Given the description of an element on the screen output the (x, y) to click on. 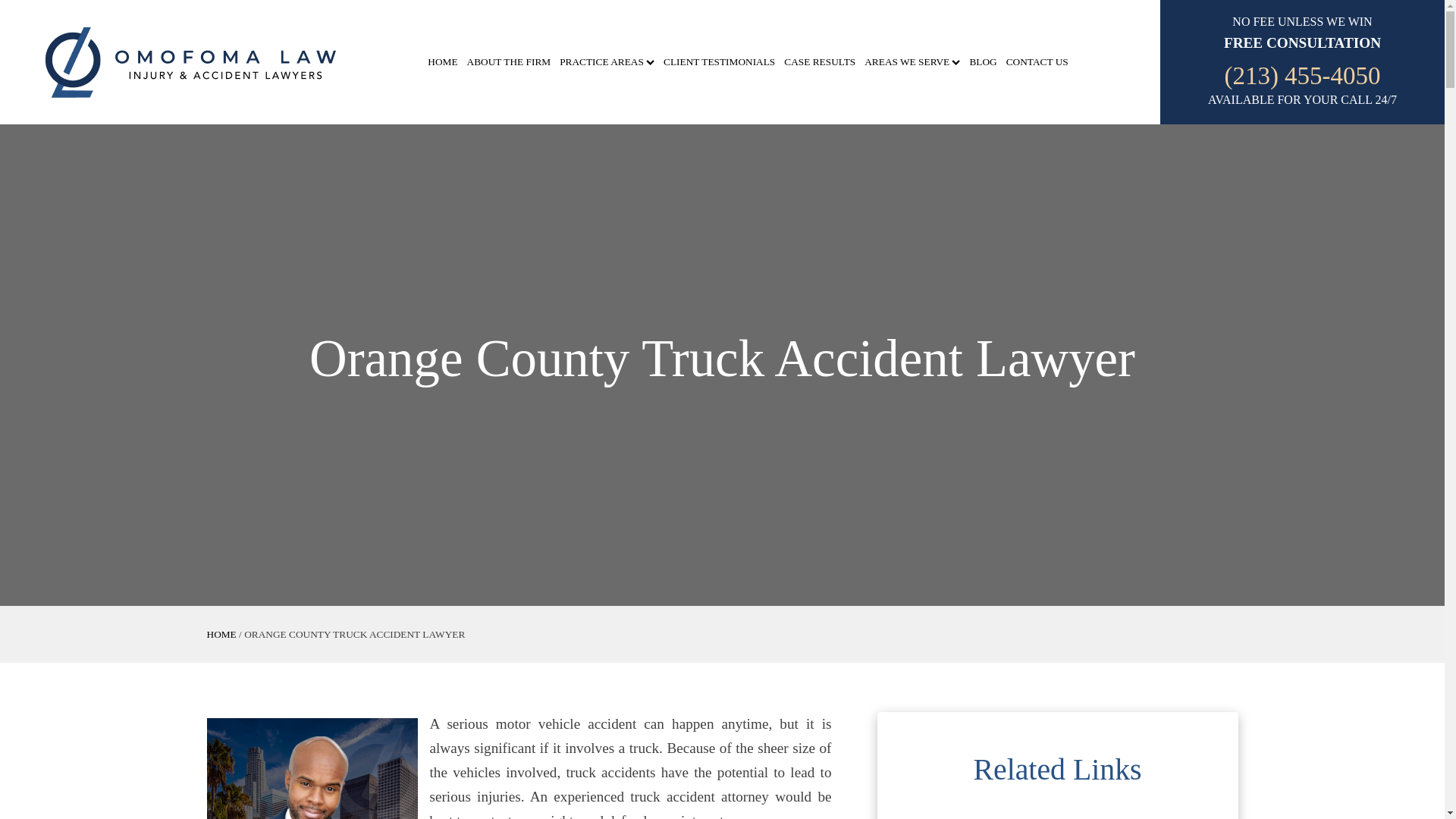
AREAS WE SERVE (911, 61)
BLOG (982, 61)
CASE RESULTS (819, 61)
PRACTICE AREAS (606, 61)
HOME (220, 633)
CONTACT US (1037, 61)
HOME (442, 61)
ABOUT THE FIRM (509, 61)
CLIENT TESTIMONIALS (718, 61)
